Given the description of an element on the screen output the (x, y) to click on. 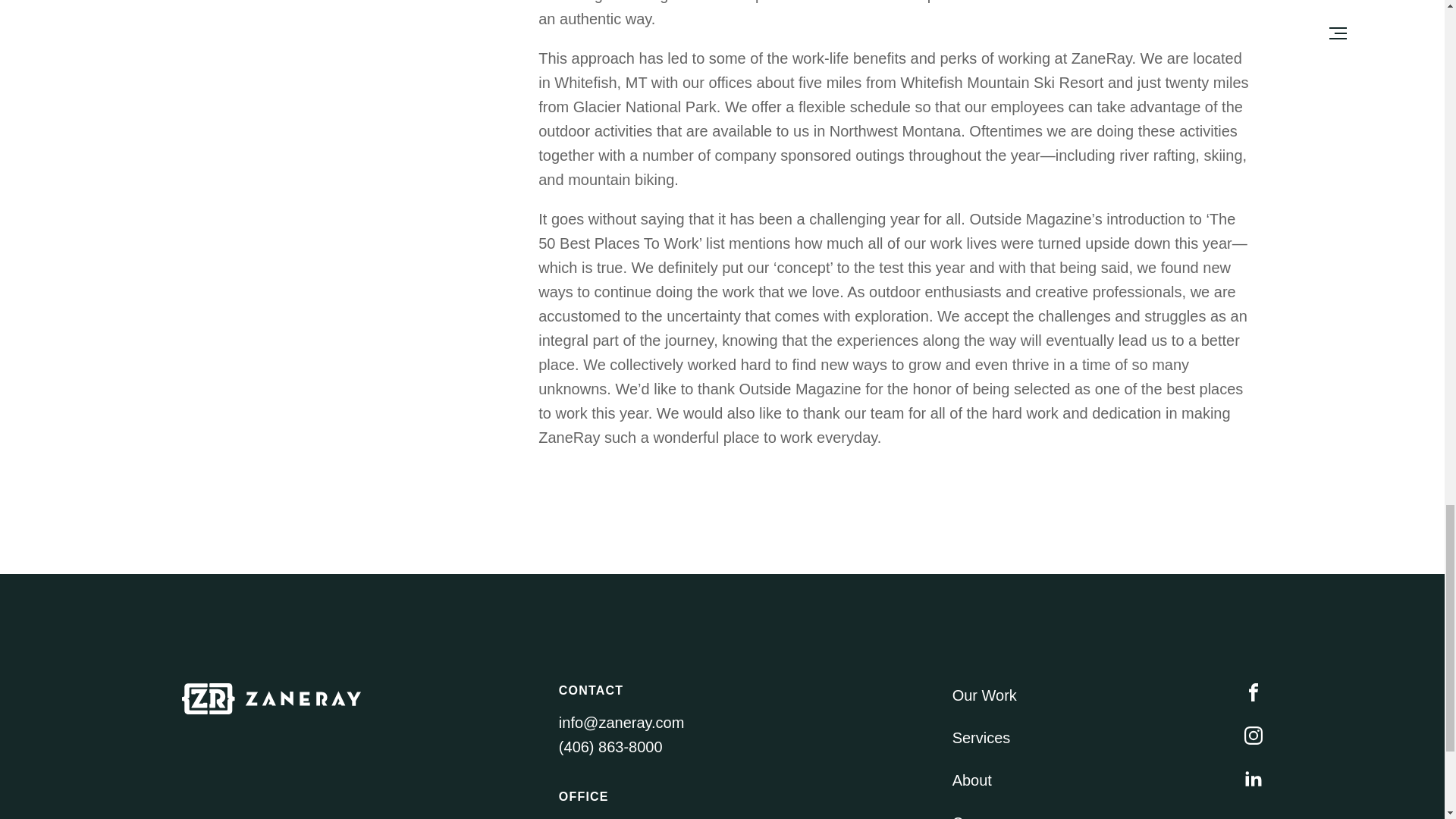
Services (981, 737)
Careers (979, 814)
Our Work (984, 695)
About (971, 780)
